Given the description of an element on the screen output the (x, y) to click on. 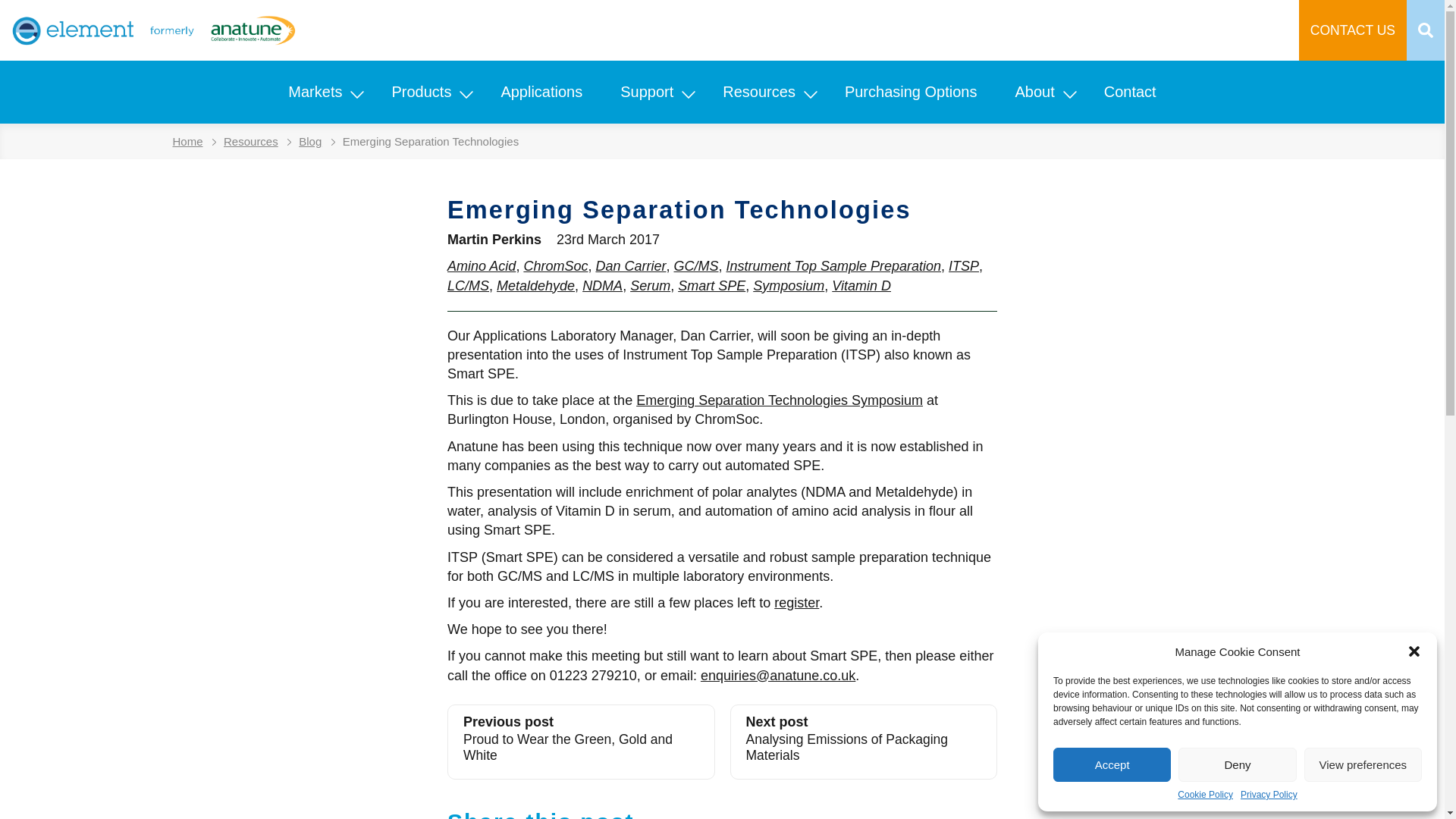
Blog (317, 141)
Deny (1236, 764)
Anatune (154, 29)
Applications (541, 92)
Emerging Separation Technologies (430, 141)
Resources (758, 92)
Markets (315, 92)
Home (195, 141)
Cookie Policy (1205, 794)
Resources (259, 141)
Support (647, 92)
Products (421, 92)
Privacy Policy (1268, 794)
Accept (1111, 764)
View preferences (1363, 764)
